Given the description of an element on the screen output the (x, y) to click on. 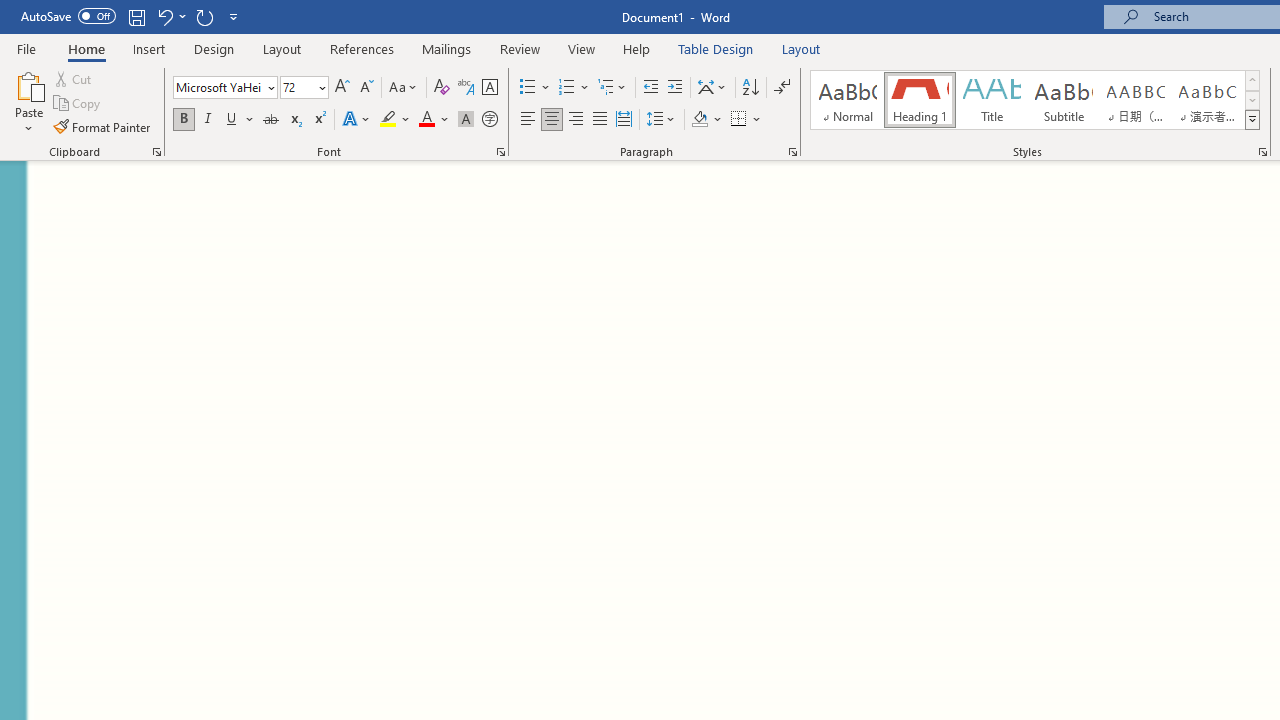
Grow Font (342, 87)
Paragraph... (792, 151)
Paste (28, 84)
Character Border (489, 87)
Borders (746, 119)
Copy (78, 103)
Format Painter (103, 126)
References (362, 48)
Undo Grow Font (164, 15)
Bold (183, 119)
Undo Grow Font (170, 15)
Shading RGB(0, 0, 0) (699, 119)
Underline (239, 119)
Mailings (447, 48)
